Given the description of an element on the screen output the (x, y) to click on. 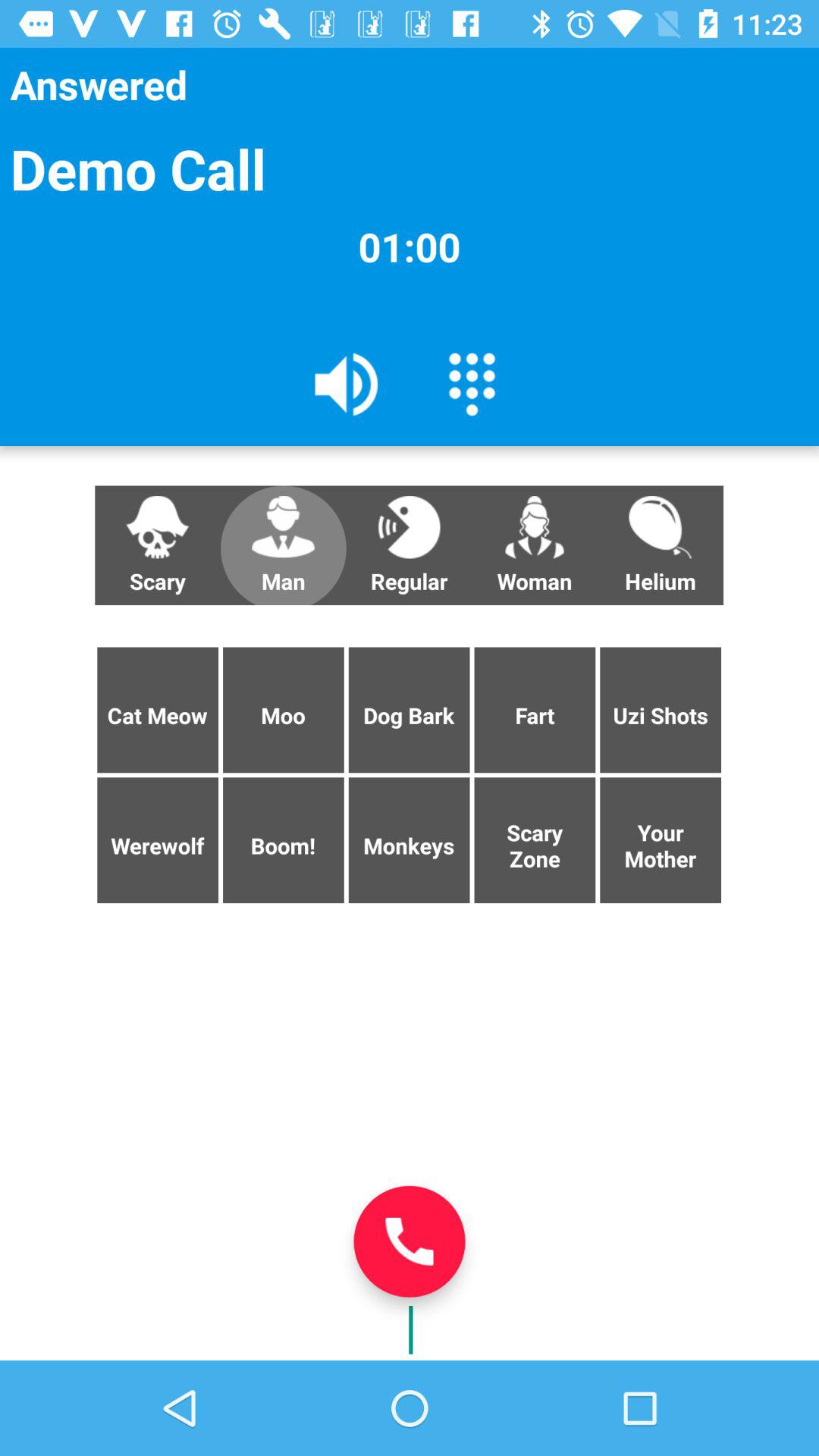
launch icon above the dog bark item (534, 545)
